Given the description of an element on the screen output the (x, y) to click on. 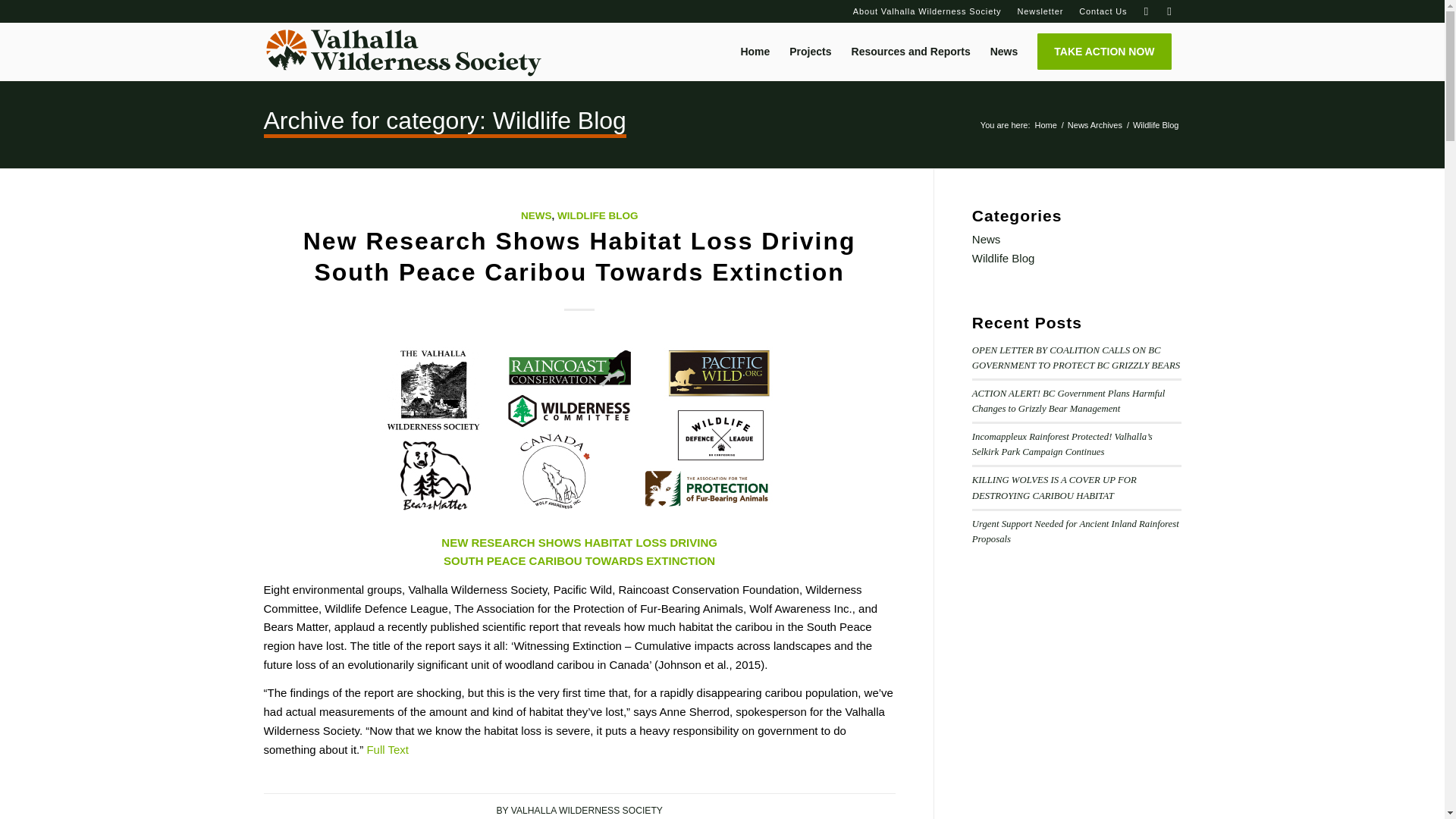
TAKE ACTION NOW (1103, 51)
Mail (1169, 11)
Facebook (1146, 11)
Newsletter (1040, 11)
News Archives (1094, 125)
Contact Us (1102, 11)
News Archives (1094, 125)
Projects (809, 51)
Valhalla Wilderness Society (1045, 125)
logo-4-1 (402, 51)
